Given the description of an element on the screen output the (x, y) to click on. 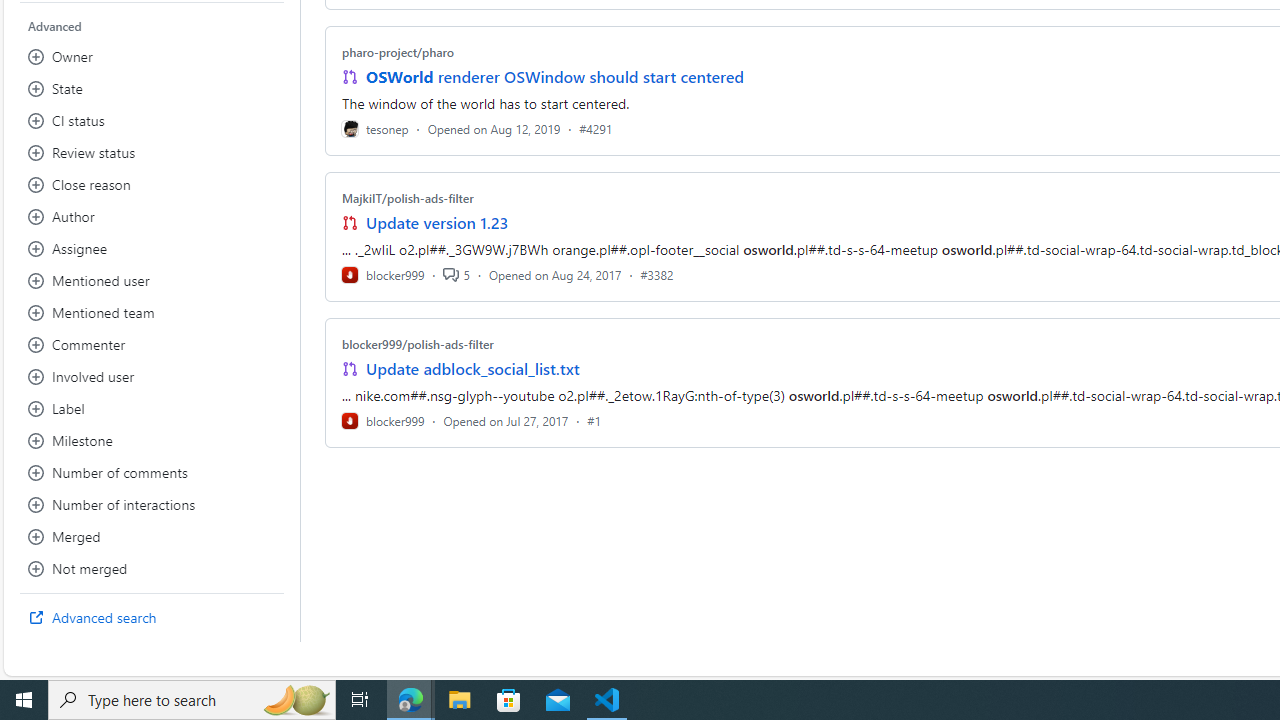
#3382 (657, 273)
Advanced search (152, 617)
tesonep (375, 128)
